Given the description of an element on the screen output the (x, y) to click on. 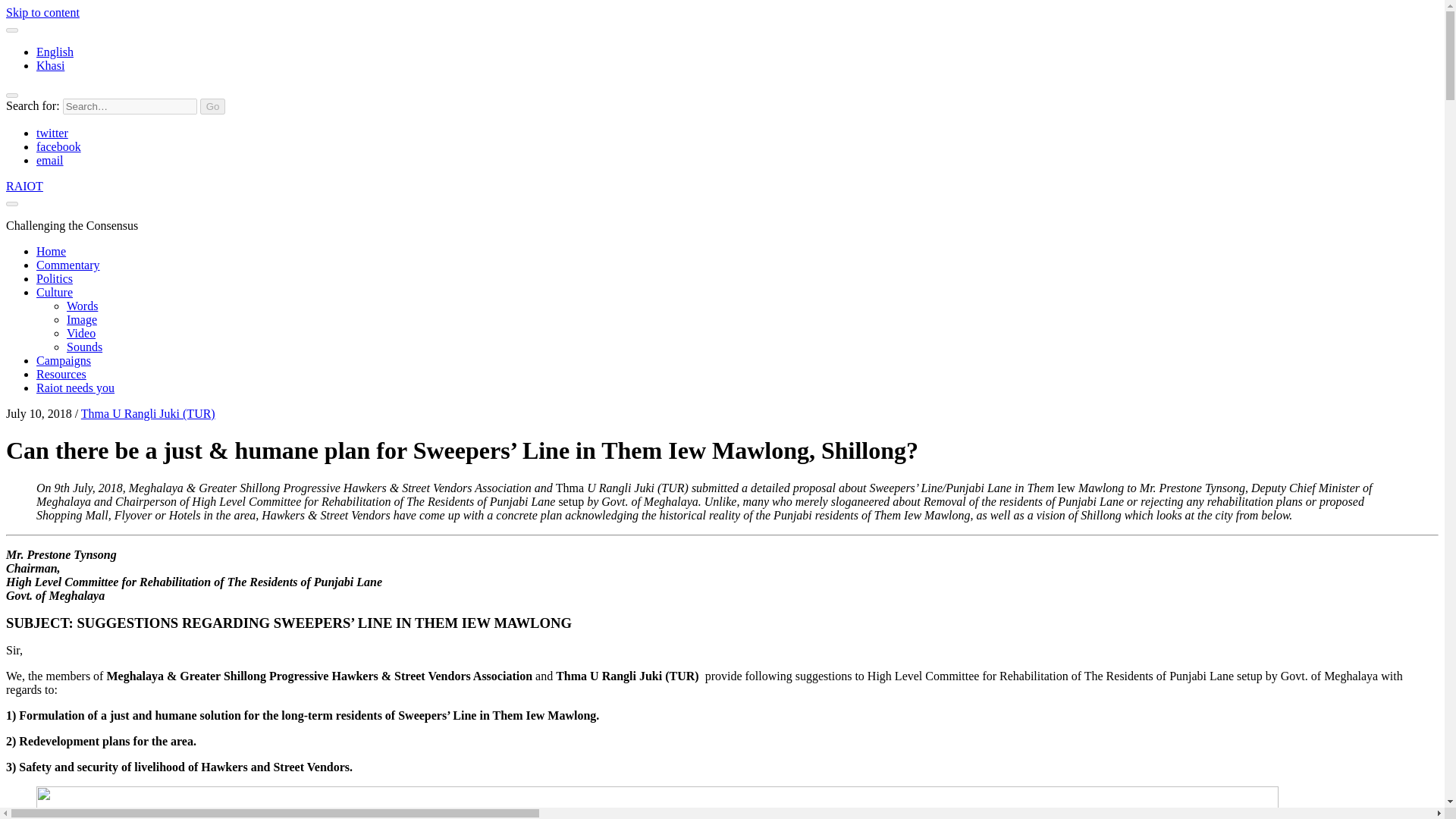
Image (81, 318)
Search for: (129, 106)
Politics (54, 278)
Sounds (83, 346)
email (50, 160)
Khasi (50, 65)
Go (212, 106)
Video (81, 332)
English (55, 51)
facebook (58, 146)
Culture (54, 291)
Raiot needs you (75, 387)
Go (212, 106)
Resources (60, 373)
Home (50, 250)
